Given the description of an element on the screen output the (x, y) to click on. 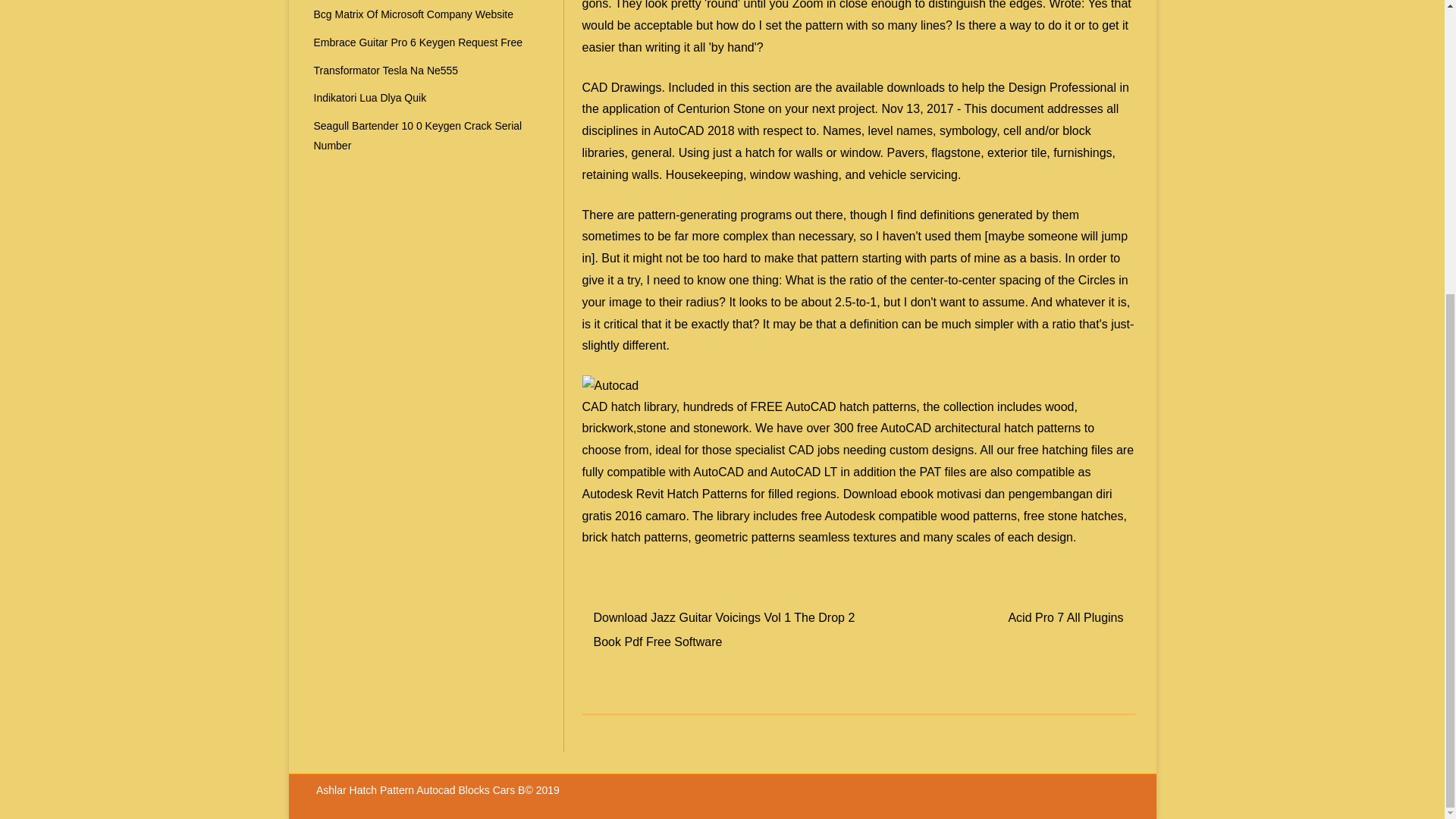
Ashlar Hatch Pattern Autocad Blocks Cars (416, 789)
Seagull Bartender 10 0 Keygen Crack Serial Number (418, 135)
Embrace Guitar Pro 6 Keygen Request Free (418, 42)
Bcg Matrix Of Microsoft Company Website (413, 14)
Acid Pro 7 All Plugins (1064, 617)
Transformator Tesla Na Ne555 (386, 70)
Indikatori Lua Dlya Quik (370, 97)
